Given the description of an element on the screen output the (x, y) to click on. 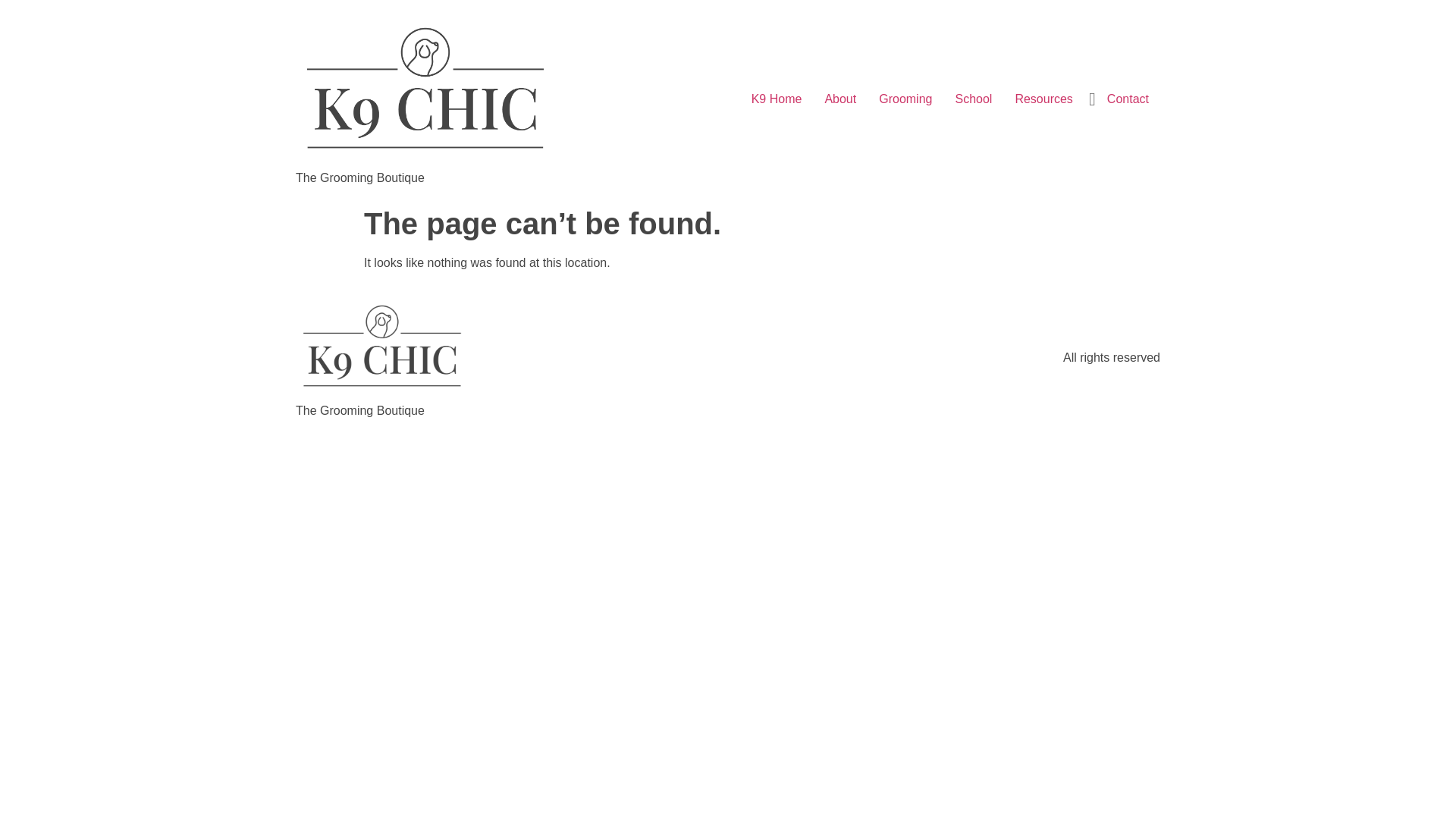
Contact Element type: text (1127, 99)
Grooming Element type: text (905, 99)
About Element type: text (839, 99)
School Element type: text (973, 99)
Resources Element type: text (1043, 99)
K9 Home Element type: text (776, 99)
